Given the description of an element on the screen output the (x, y) to click on. 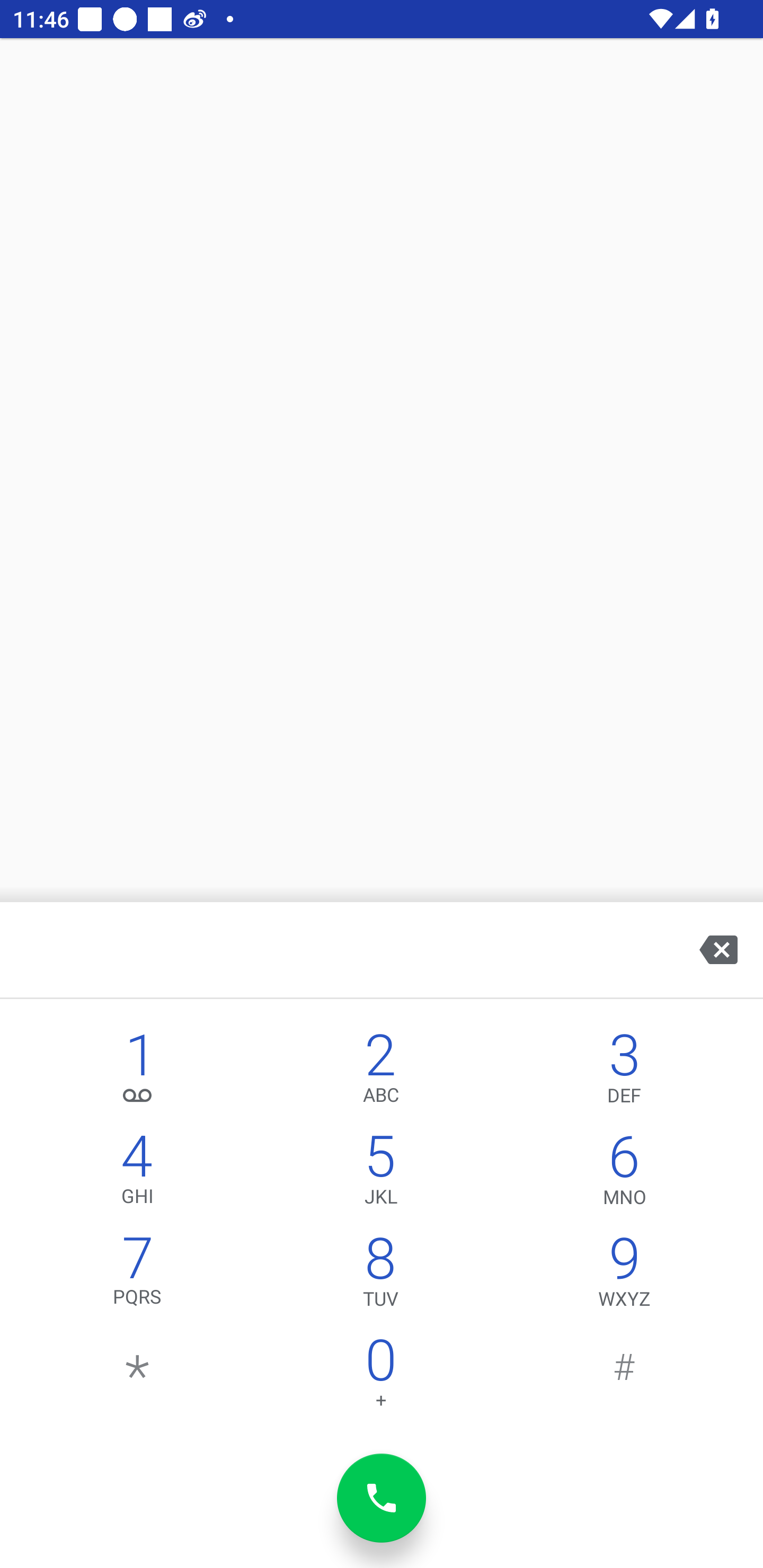
backspace (718, 949)
1, 1 (137, 1071)
2,ABC 2 ABC (380, 1071)
3,DEF 3 DEF (624, 1071)
4,GHI 4 GHI (137, 1173)
5,JKL 5 JKL (380, 1173)
6,MNO 6 MNO (624, 1173)
7,PQRS 7 PQRS (137, 1275)
8,TUV 8 TUV (380, 1275)
9,WXYZ 9 WXYZ (624, 1275)
* (137, 1377)
0 0 + (380, 1377)
# (624, 1377)
dial (381, 1497)
